Given the description of an element on the screen output the (x, y) to click on. 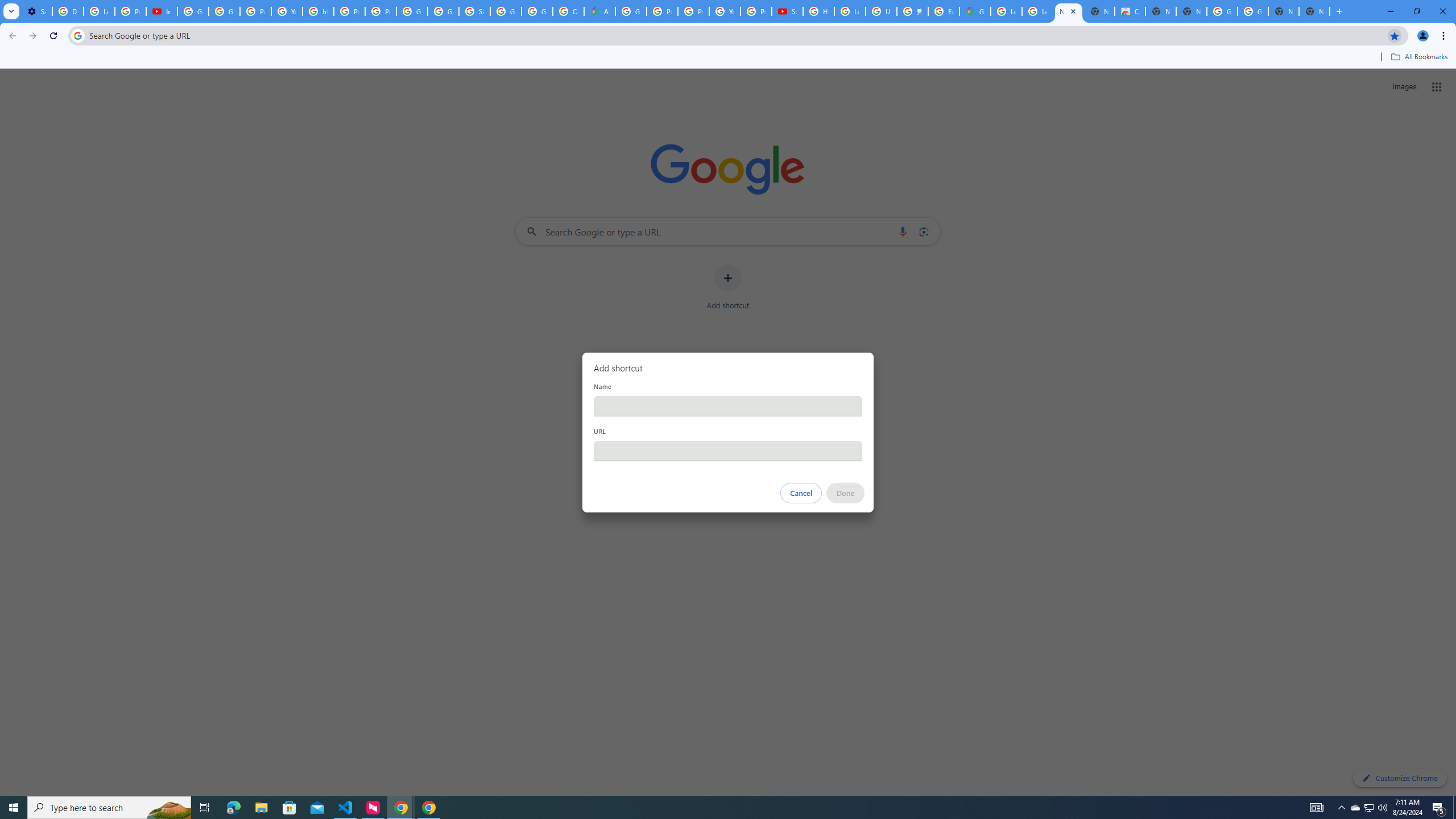
Privacy Help Center - Policies Help (693, 11)
All Bookmarks (1418, 56)
Learn how to find your photos - Google Photos Help (98, 11)
Google Account Help (192, 11)
Settings - Performance (36, 11)
Introduction | Google Privacy Policy - YouTube (161, 11)
URL (727, 450)
Privacy Help Center - Policies Help (662, 11)
Google Maps (974, 11)
Done (845, 493)
